Given the description of an element on the screen output the (x, y) to click on. 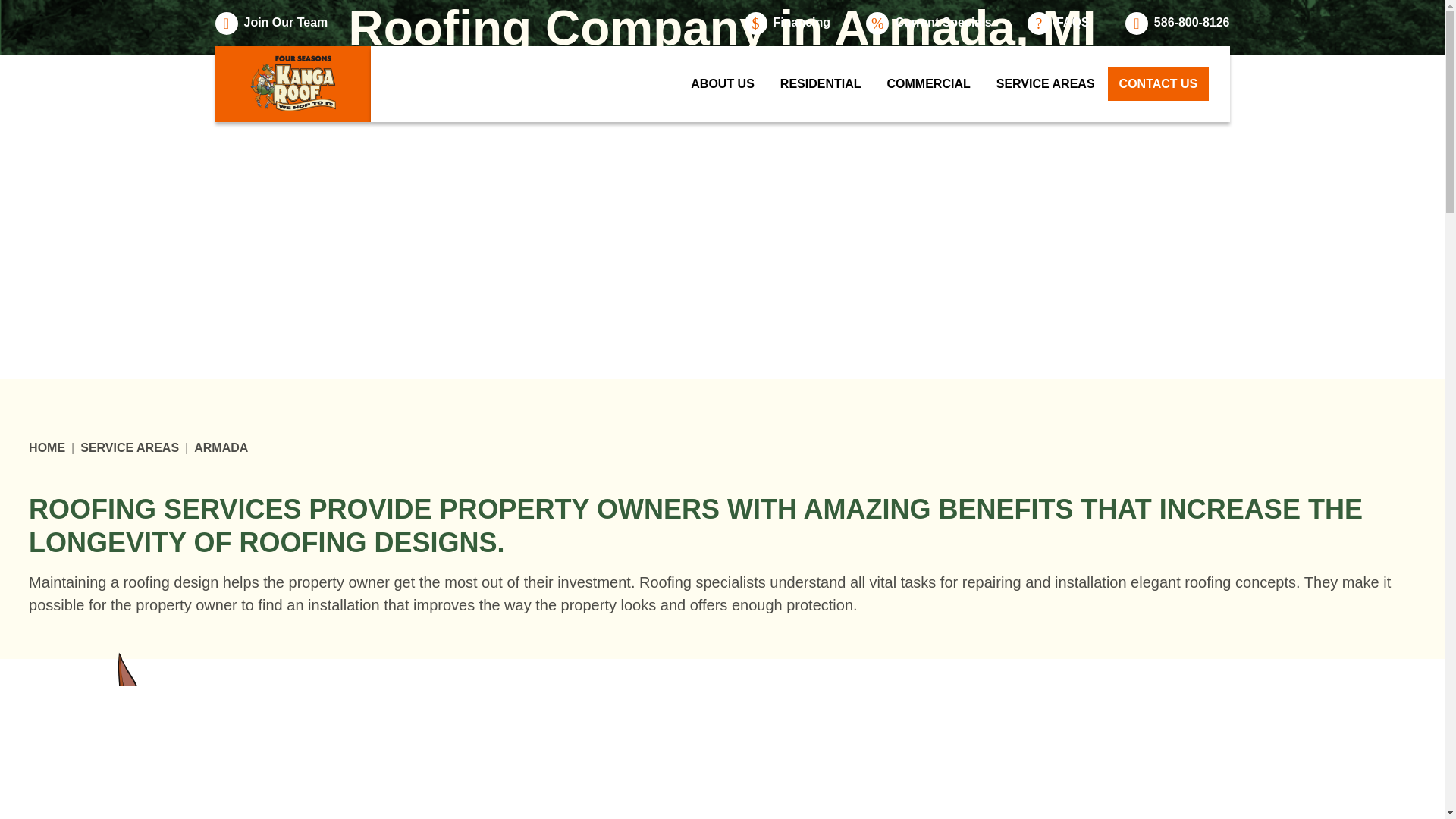
CONTACT US (1158, 83)
ABOUT US (722, 83)
SERVICE AREAS (1046, 83)
HOME (47, 448)
FAQS (1058, 23)
SERVICE AREAS (129, 448)
RESIDENTIAL (821, 83)
Financing (787, 23)
Join Our Team (272, 23)
586-800-8126 (1177, 23)
